Given the description of an element on the screen output the (x, y) to click on. 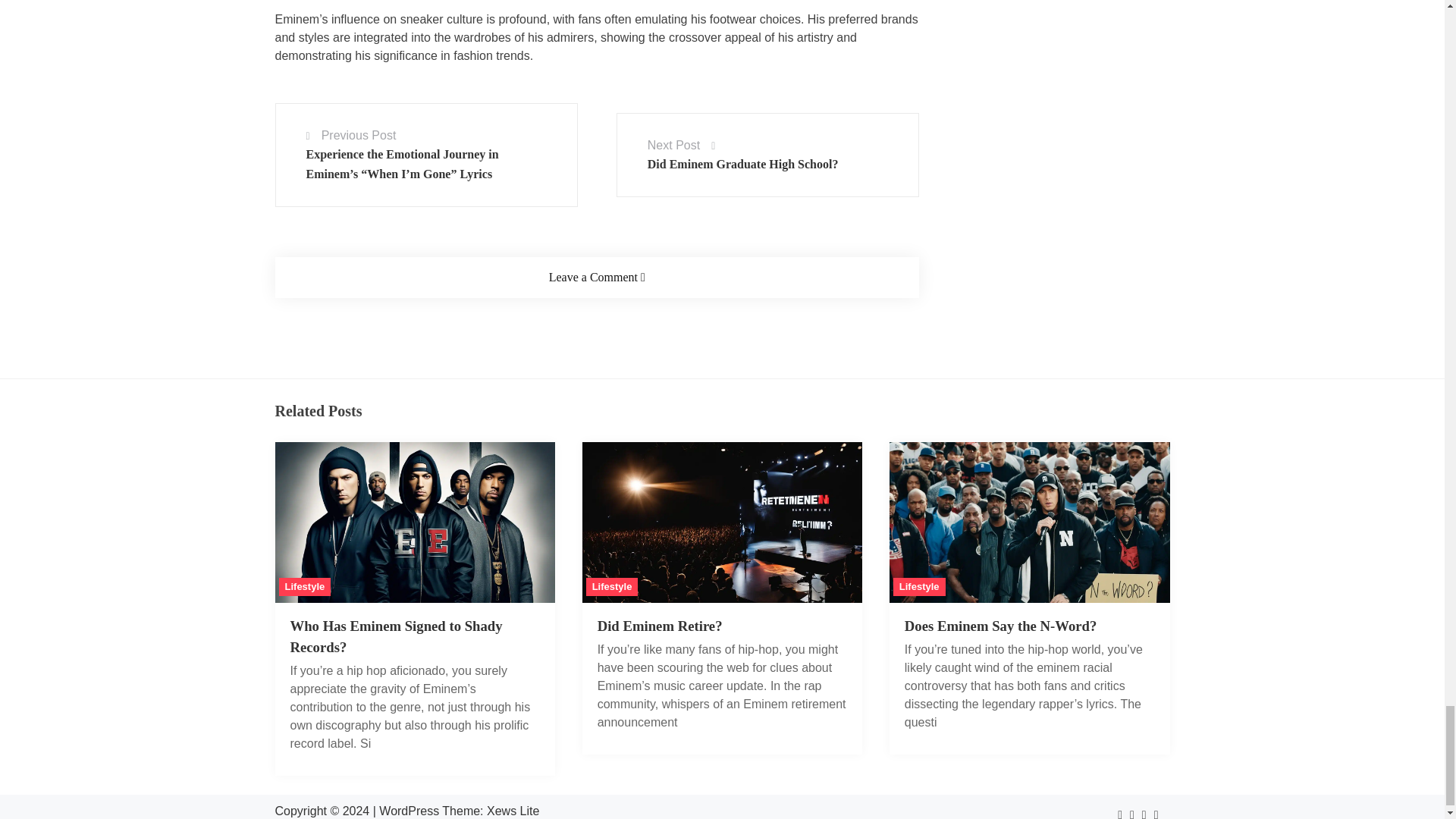
Lifestyle (612, 587)
Does Eminem Say the N-Word? (1029, 598)
Previous Post (358, 134)
Xews Lite (512, 810)
Did Eminem Retire? (722, 598)
Lifestyle (918, 587)
Next Post (673, 144)
Did Eminem Graduate High School? (742, 164)
Did Eminem Retire? (659, 625)
Lifestyle (305, 587)
